Given the description of an element on the screen output the (x, y) to click on. 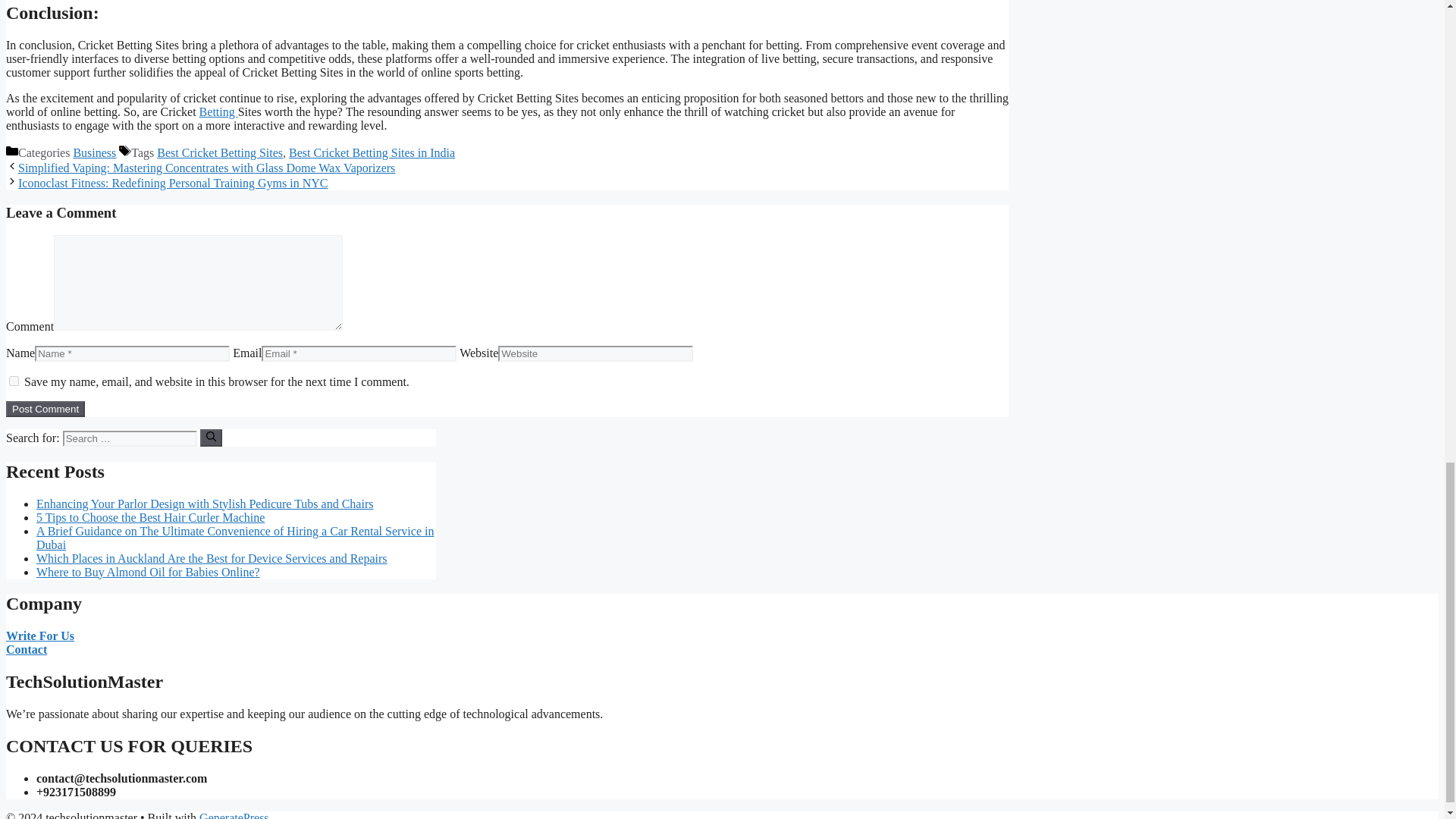
5 Tips to Choose the Best Hair Curler Machine (150, 517)
Search for: (129, 438)
Where to Buy Almond Oil for Babies Online? (148, 571)
Business (94, 152)
Write For Us (39, 635)
Betting (218, 111)
Best Cricket Betting Sites in India (371, 152)
